Given the description of an element on the screen output the (x, y) to click on. 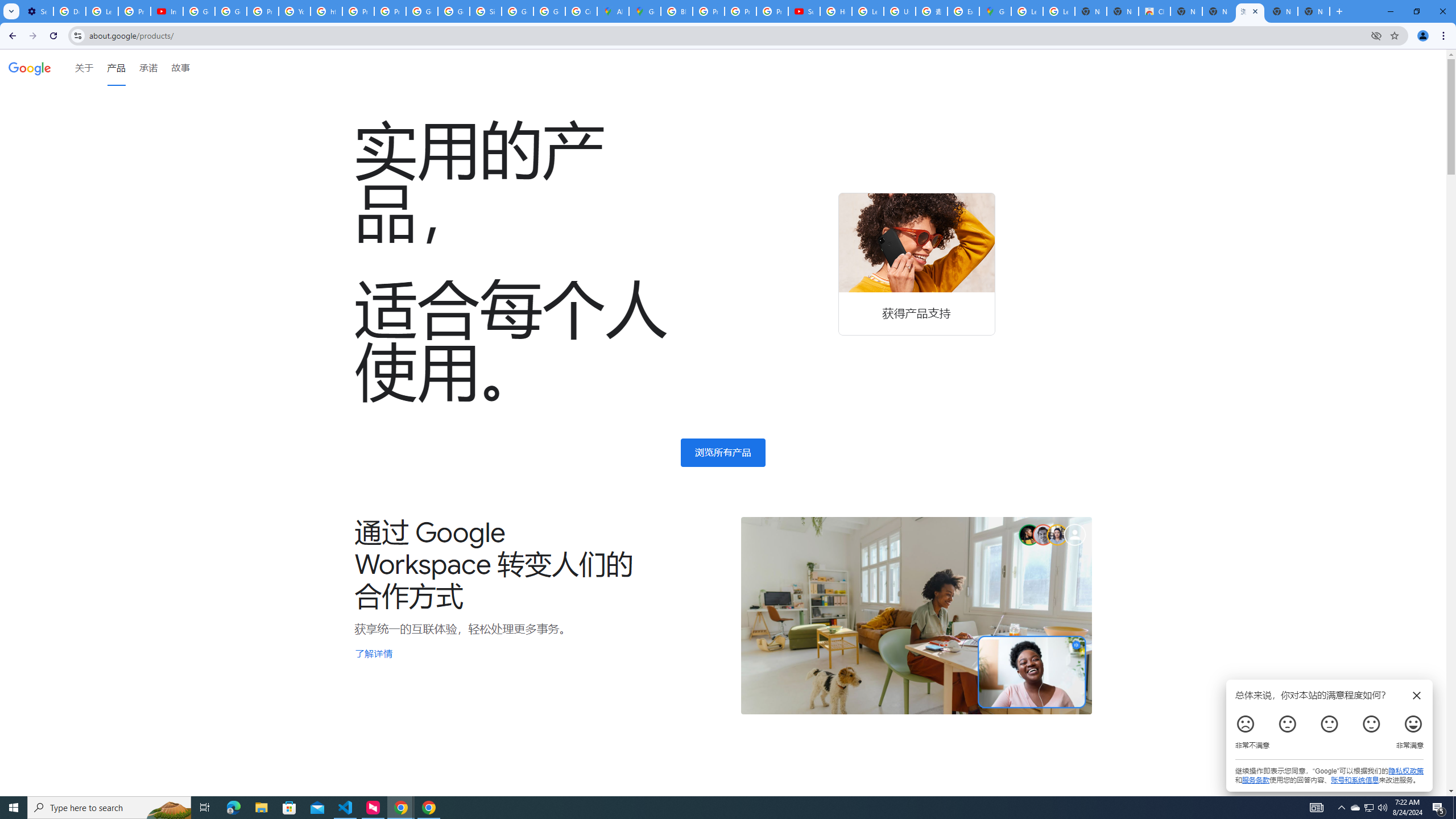
Introduction | Google Privacy Policy - YouTube (166, 11)
Settings - Customize profile (37, 11)
Blogger Policies and Guidelines - Transparency Center (676, 11)
